Given the description of an element on the screen output the (x, y) to click on. 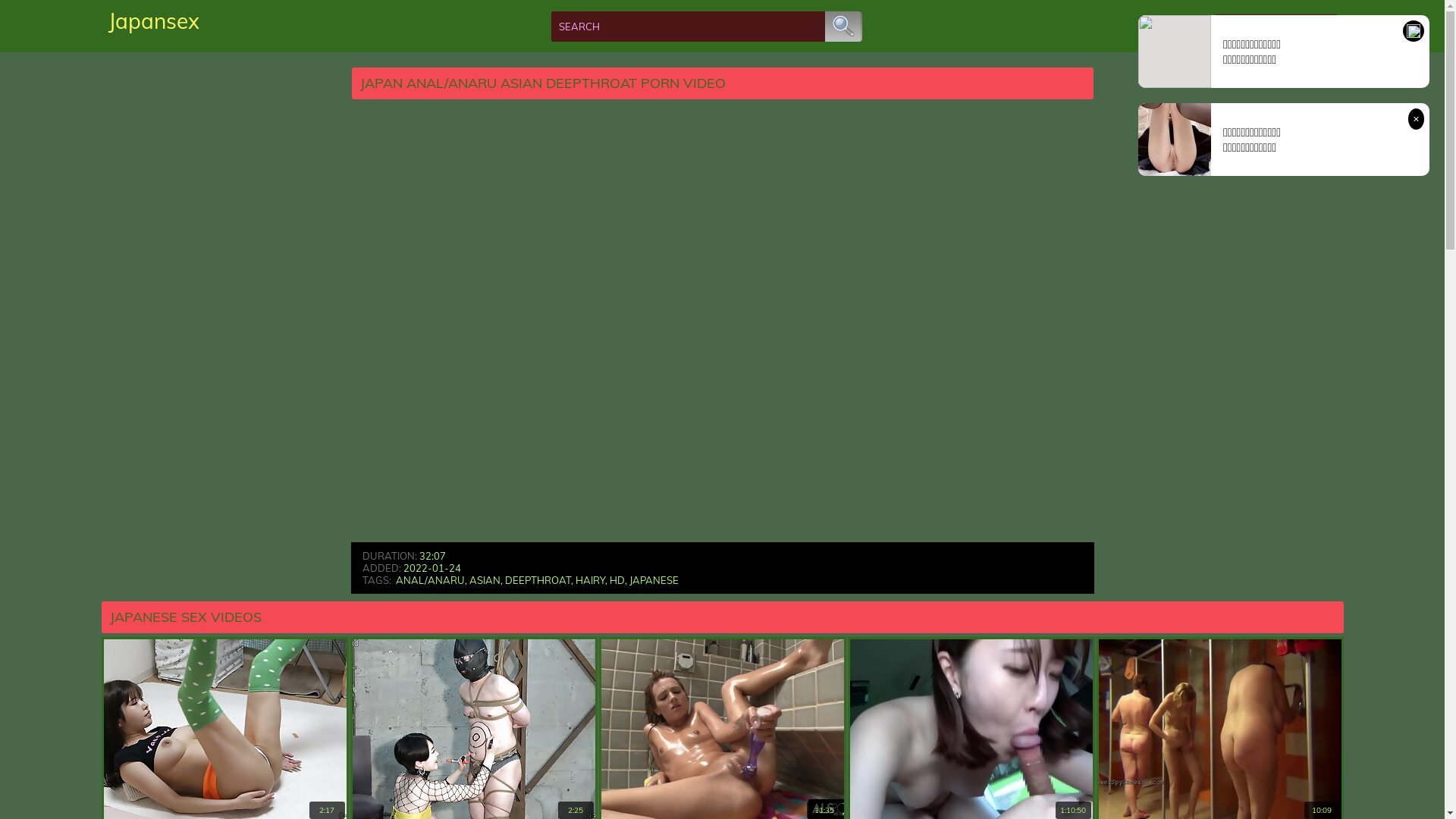
Japansex Element type: text (152, 20)
